Given the description of an element on the screen output the (x, y) to click on. 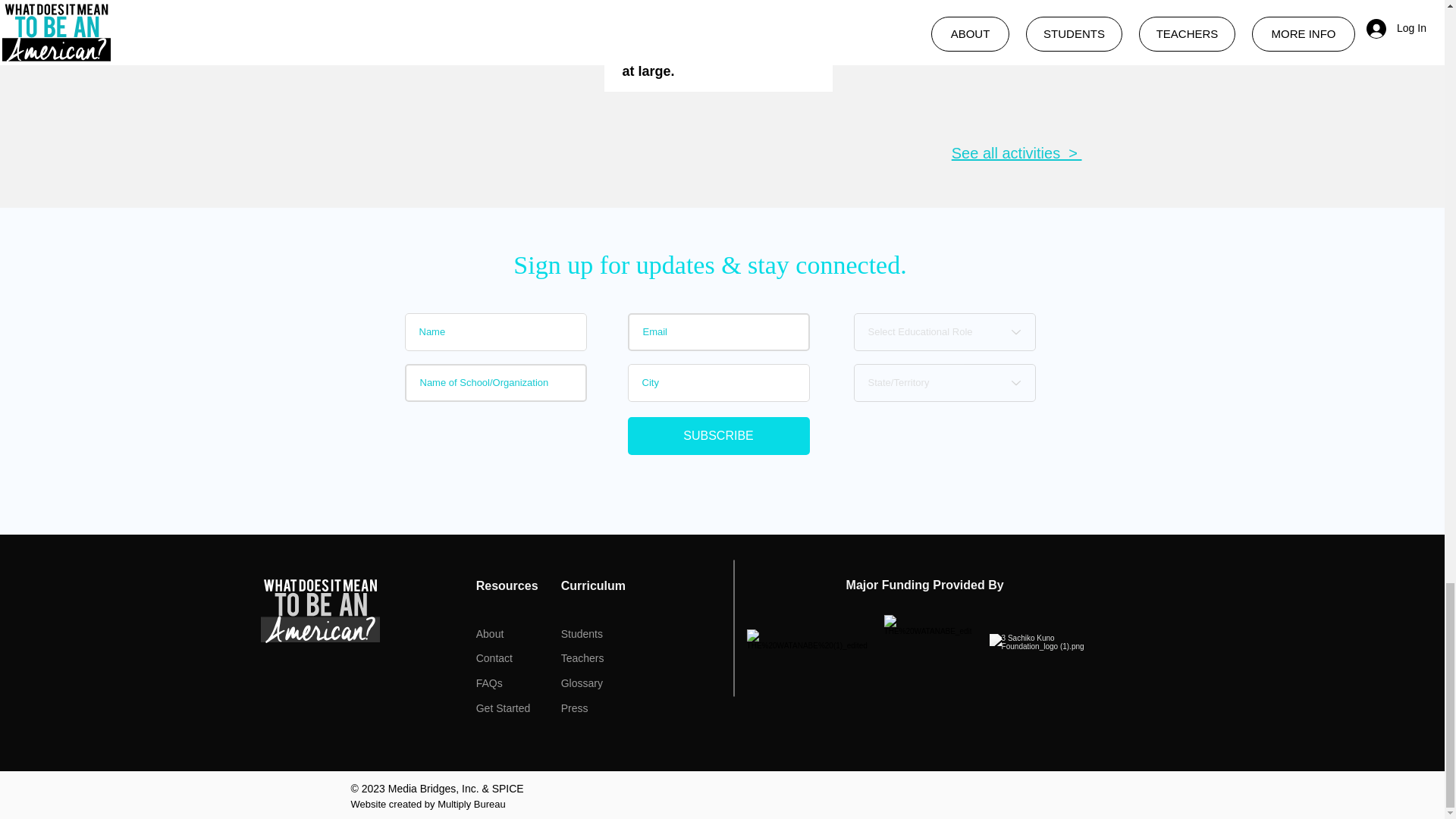
Button (970, 49)
Button (464, 49)
SUBSCRIBE (718, 435)
Button (717, 49)
